Given the description of an element on the screen output the (x, y) to click on. 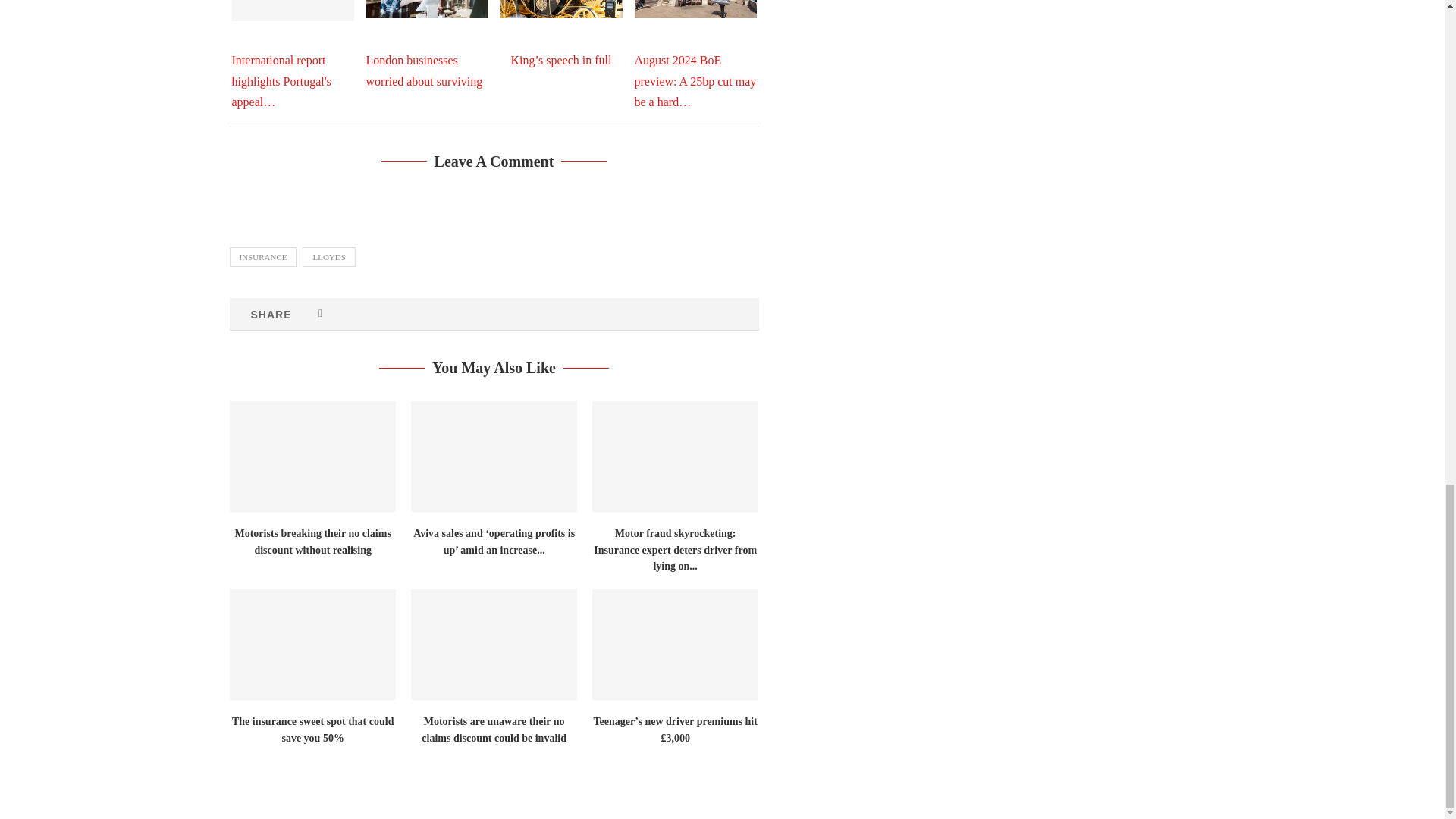
London businesses worried about surviving (426, 8)
